Given the description of an element on the screen output the (x, y) to click on. 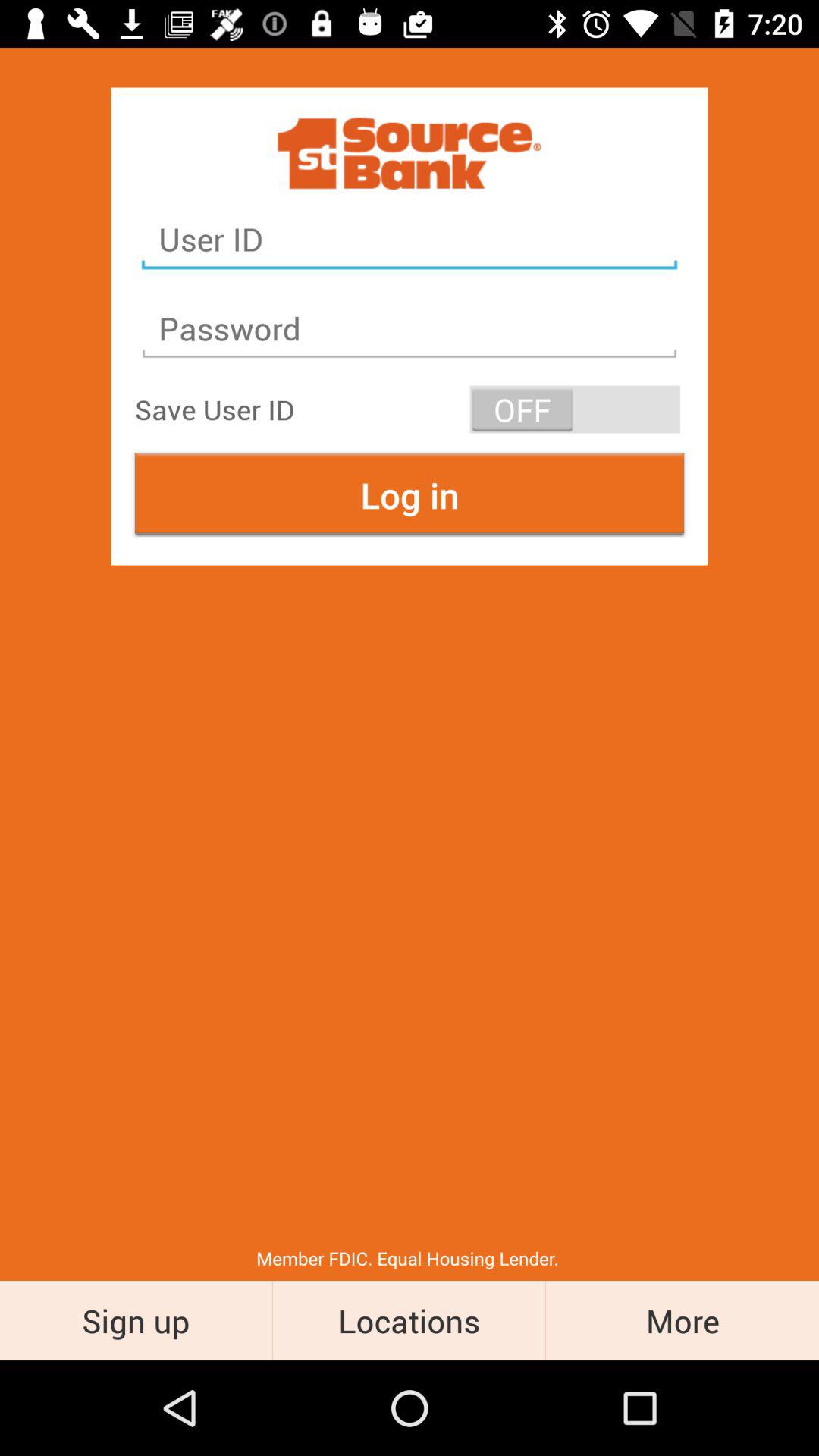
turn off item below member fdic equal icon (409, 1320)
